Given the description of an element on the screen output the (x, y) to click on. 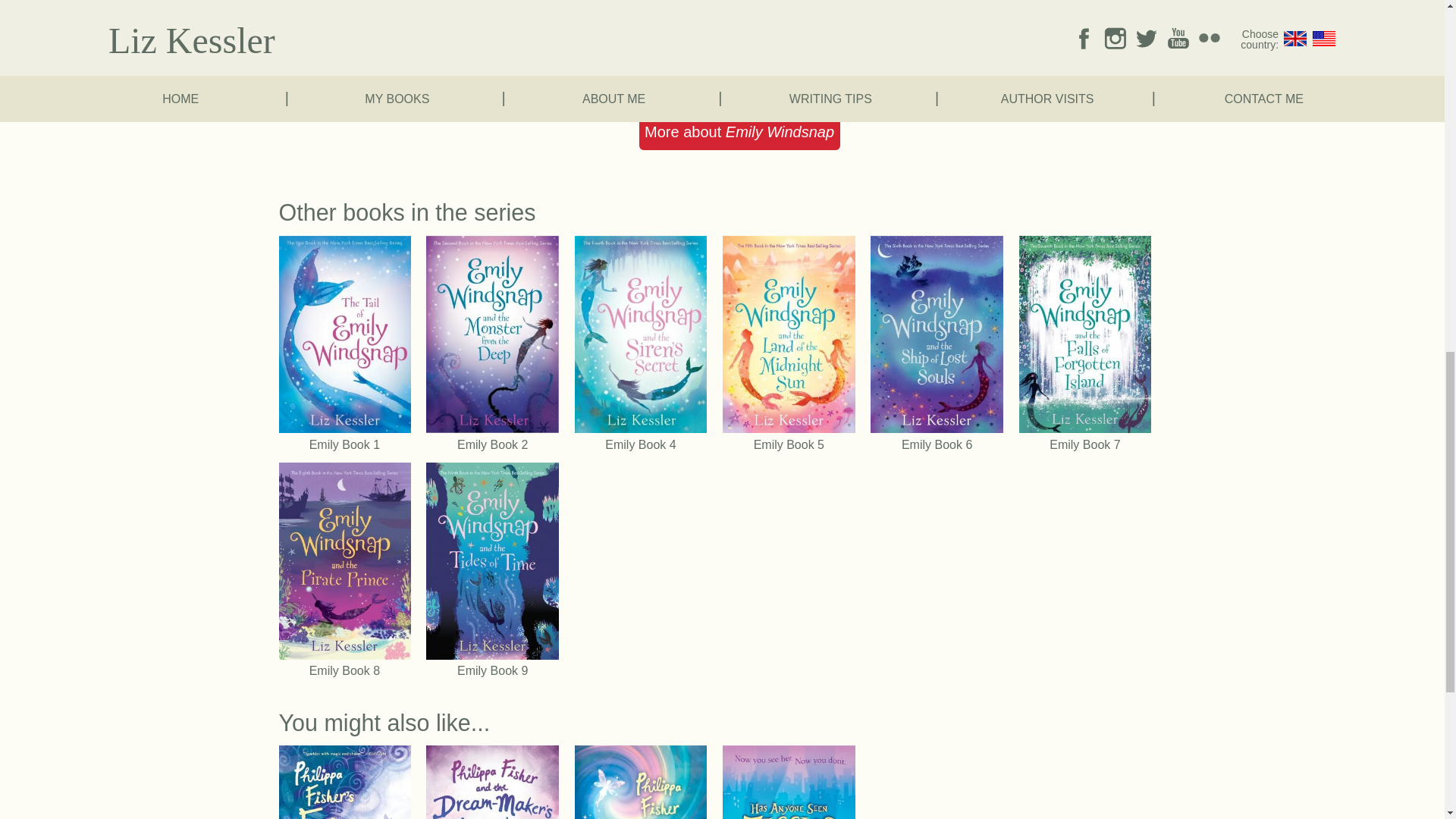
More about Emily Windsnap (739, 132)
